Given the description of an element on the screen output the (x, y) to click on. 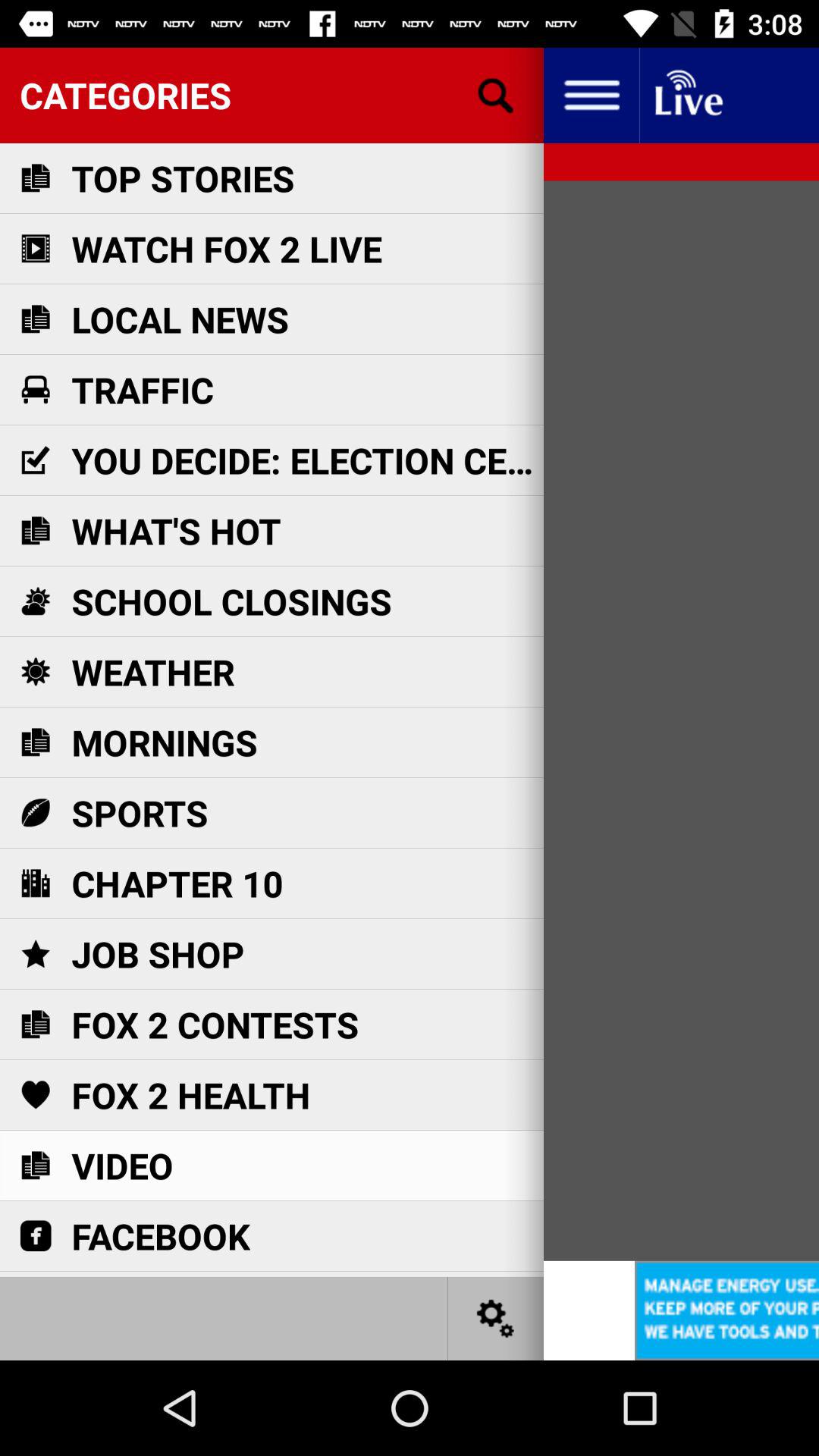
go to live button (687, 95)
